Given the description of an element on the screen output the (x, y) to click on. 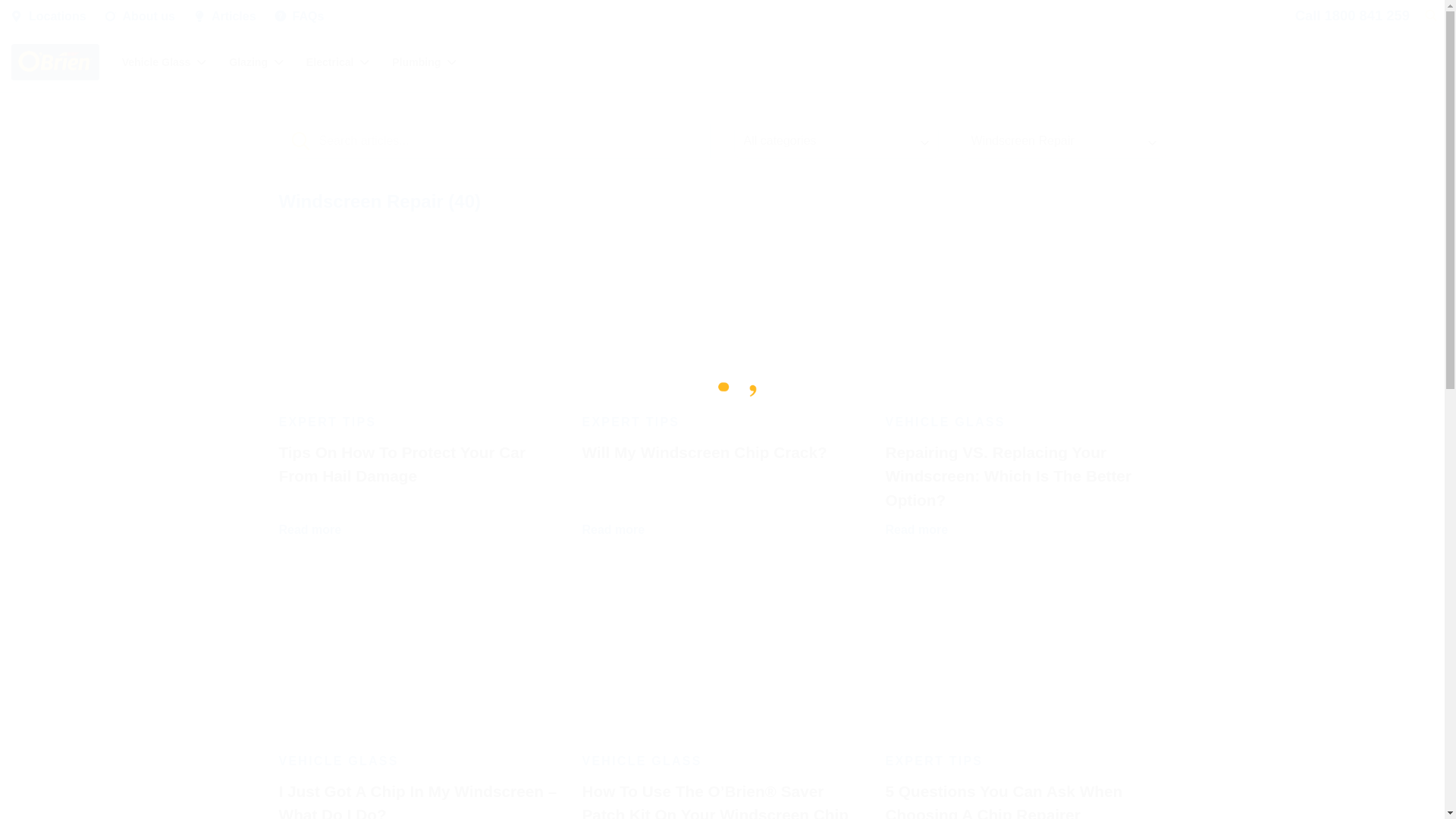
Will My Windscreen Chip Crack? Element type: text (703, 452)
FAQs Element type: text (308, 15)
Glazing Element type: text (255, 61)
Read more Element type: text (612, 529)
Vehicle Glass Element type: text (164, 61)
Read more Element type: text (915, 529)
VEHICLE GLASS Element type: text (338, 760)
Locations Element type: text (57, 15)
Call 1800 841 259 Element type: text (1348, 15)
Articles Element type: text (233, 15)
VEHICLE GLASS Element type: text (944, 421)
EXPERT TIPS Element type: text (630, 421)
Plumbing Element type: text (423, 61)
EXPERT TIPS Element type: text (933, 760)
VEHICLE GLASS Element type: text (641, 760)
About us Element type: text (148, 15)
EXPERT TIPS Element type: text (327, 421)
Read more Element type: text (310, 529)
Electrical Element type: text (337, 61)
Tips On How To Protect Your Car From Hail Damage Element type: text (402, 464)
